Given the description of an element on the screen output the (x, y) to click on. 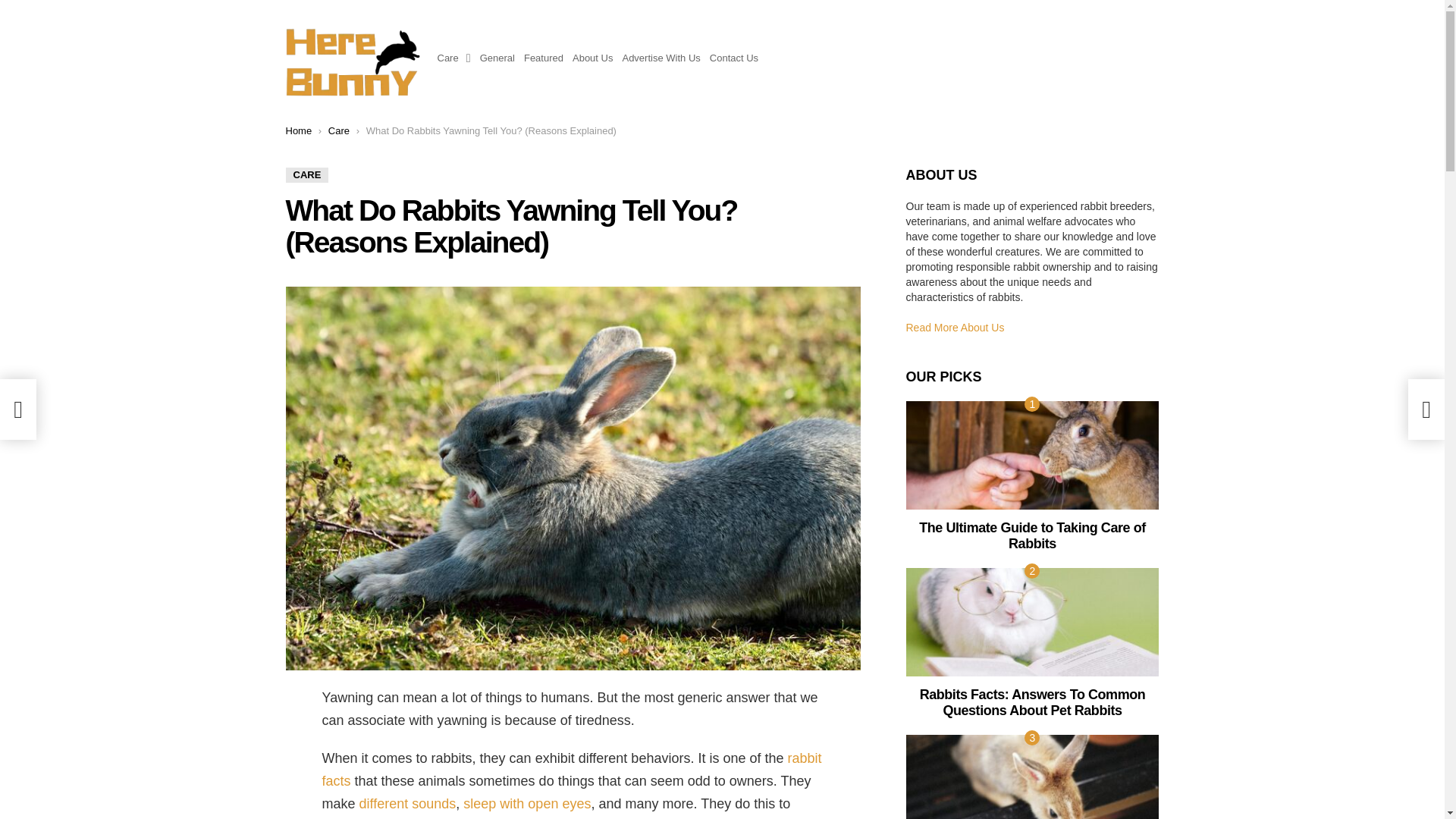
Advertise With Us (660, 57)
General (497, 57)
Home (298, 130)
rabbit facts (571, 769)
Featured (543, 57)
The Ultimate Guide to Taking Care of Rabbits (1031, 455)
different sounds (408, 803)
Rabbits Facts: Answers To Common Questions About Pet Rabbits (1031, 622)
The Ideal Diet for Your Rabbit: What You Need to Know (1031, 776)
CARE (307, 174)
sleep with open eyes (527, 803)
About Us (592, 57)
Contact Us (734, 57)
Care (453, 57)
Care (339, 130)
